Given the description of an element on the screen output the (x, y) to click on. 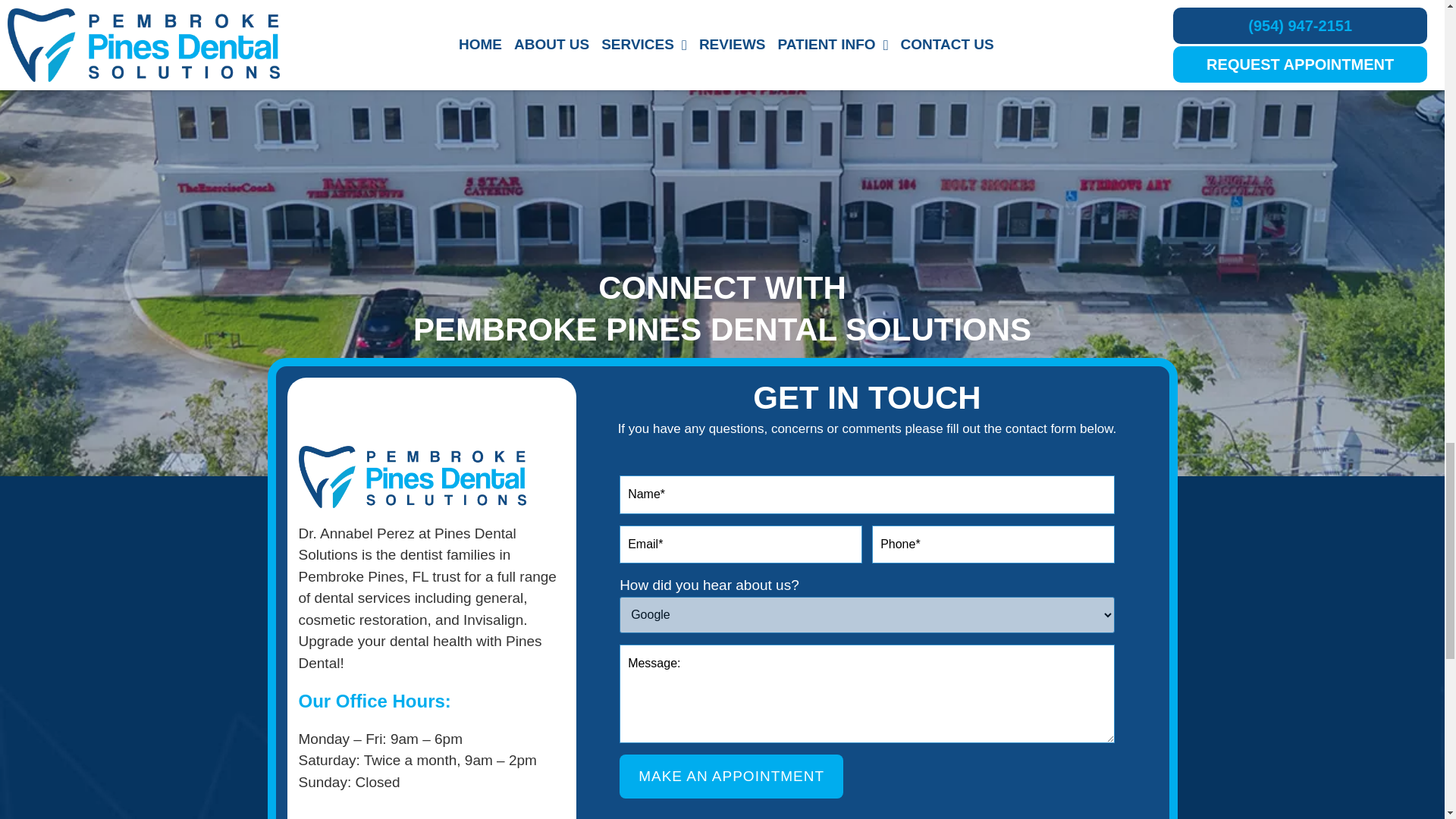
Make an Appointment (731, 776)
